Given the description of an element on the screen output the (x, y) to click on. 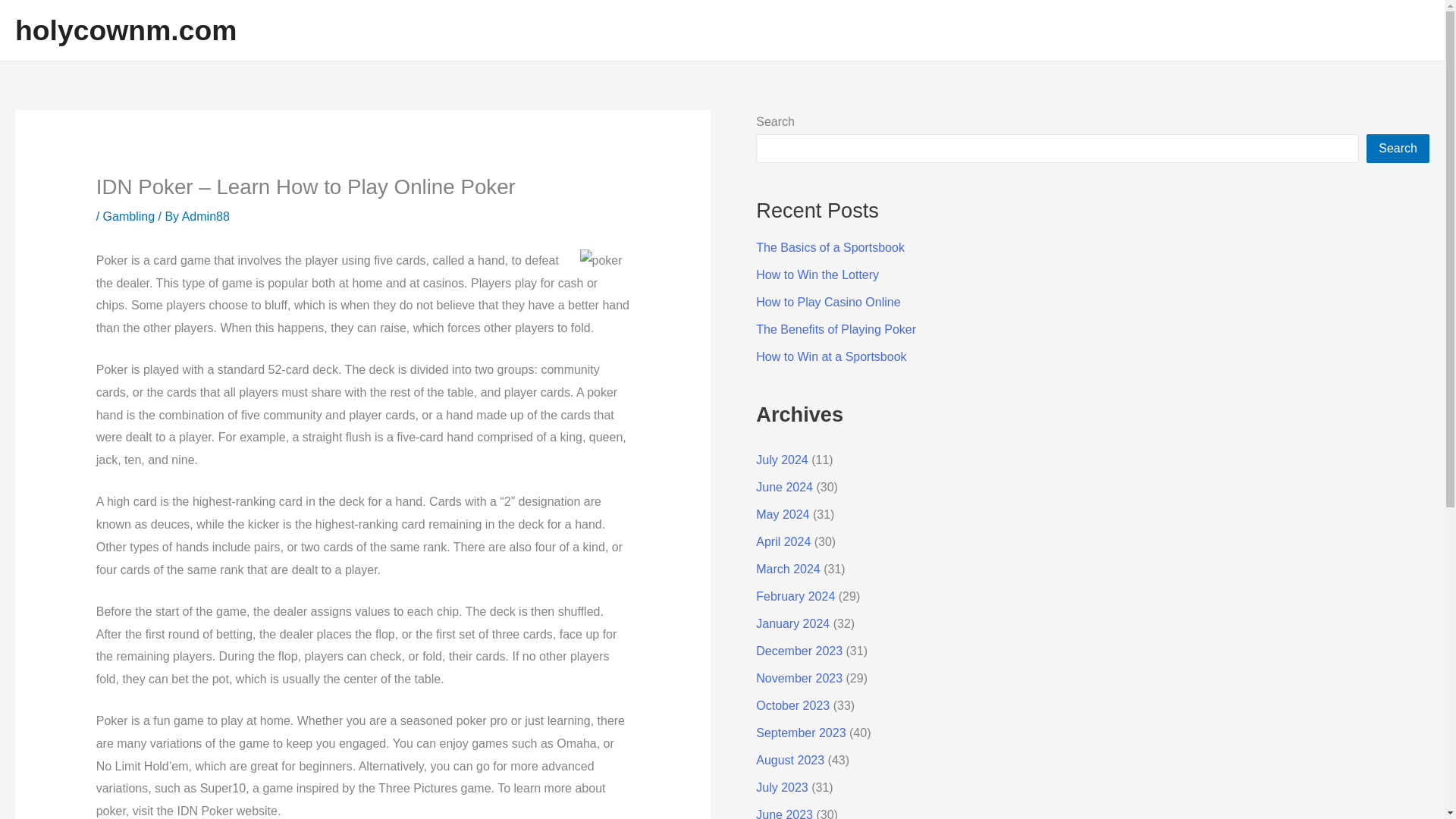
View all posts by Admin88 (206, 215)
June 2024 (783, 486)
How to Win the Lottery (817, 274)
holycownm.com (124, 29)
December 2023 (799, 650)
The Basics of a Sportsbook (829, 246)
September 2023 (800, 732)
How to Play Casino Online (827, 301)
June 2023 (783, 813)
July 2023 (781, 787)
Search (1398, 148)
July 2024 (781, 459)
How to Win at a Sportsbook (830, 356)
Admin88 (206, 215)
January 2024 (792, 623)
